Given the description of an element on the screen output the (x, y) to click on. 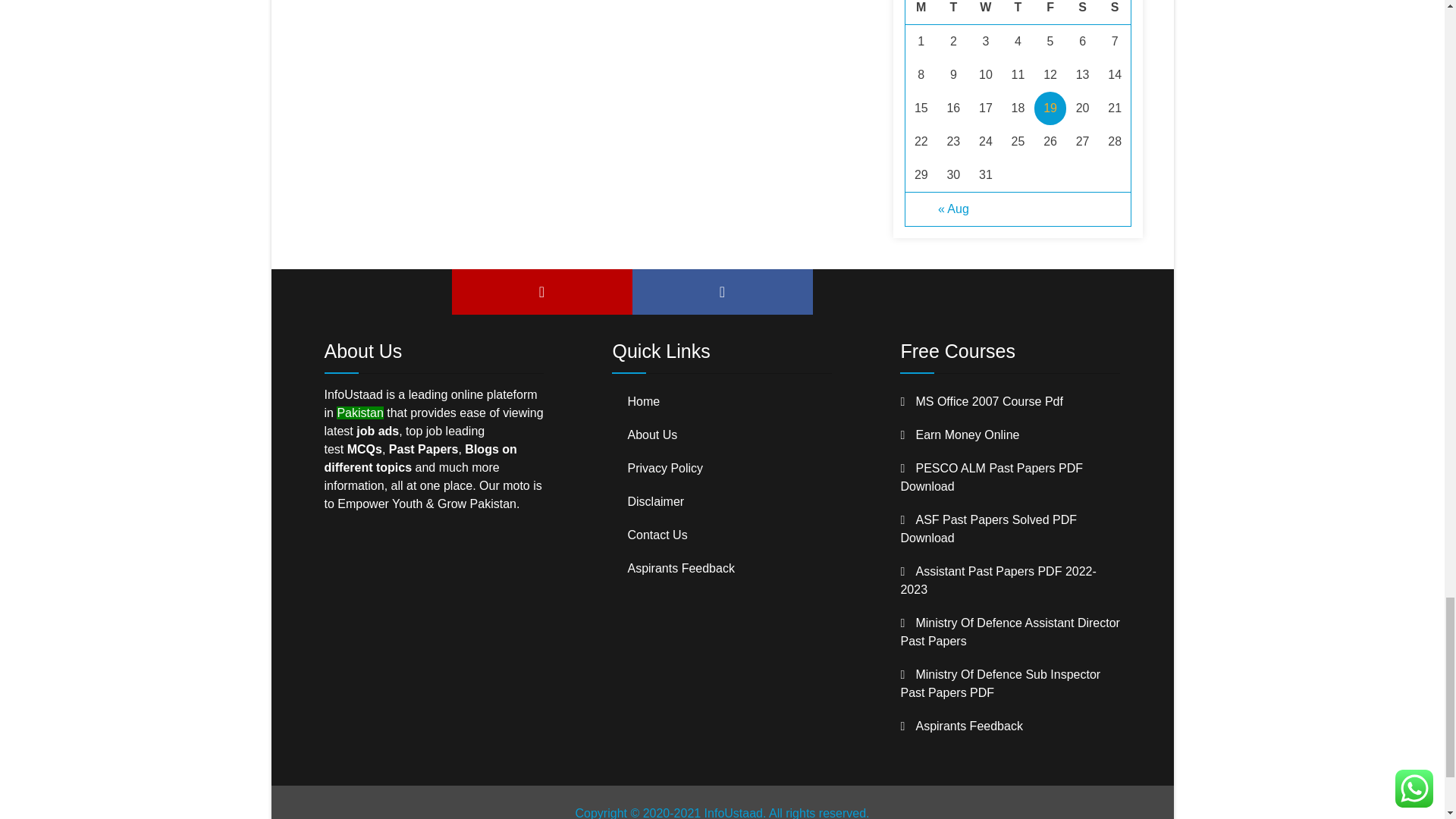
Tuesday (953, 12)
Sunday (1115, 12)
Thursday (1017, 12)
Monday (921, 12)
Saturday (1082, 12)
Friday (1050, 12)
Wednesday (986, 12)
